Given the description of an element on the screen output the (x, y) to click on. 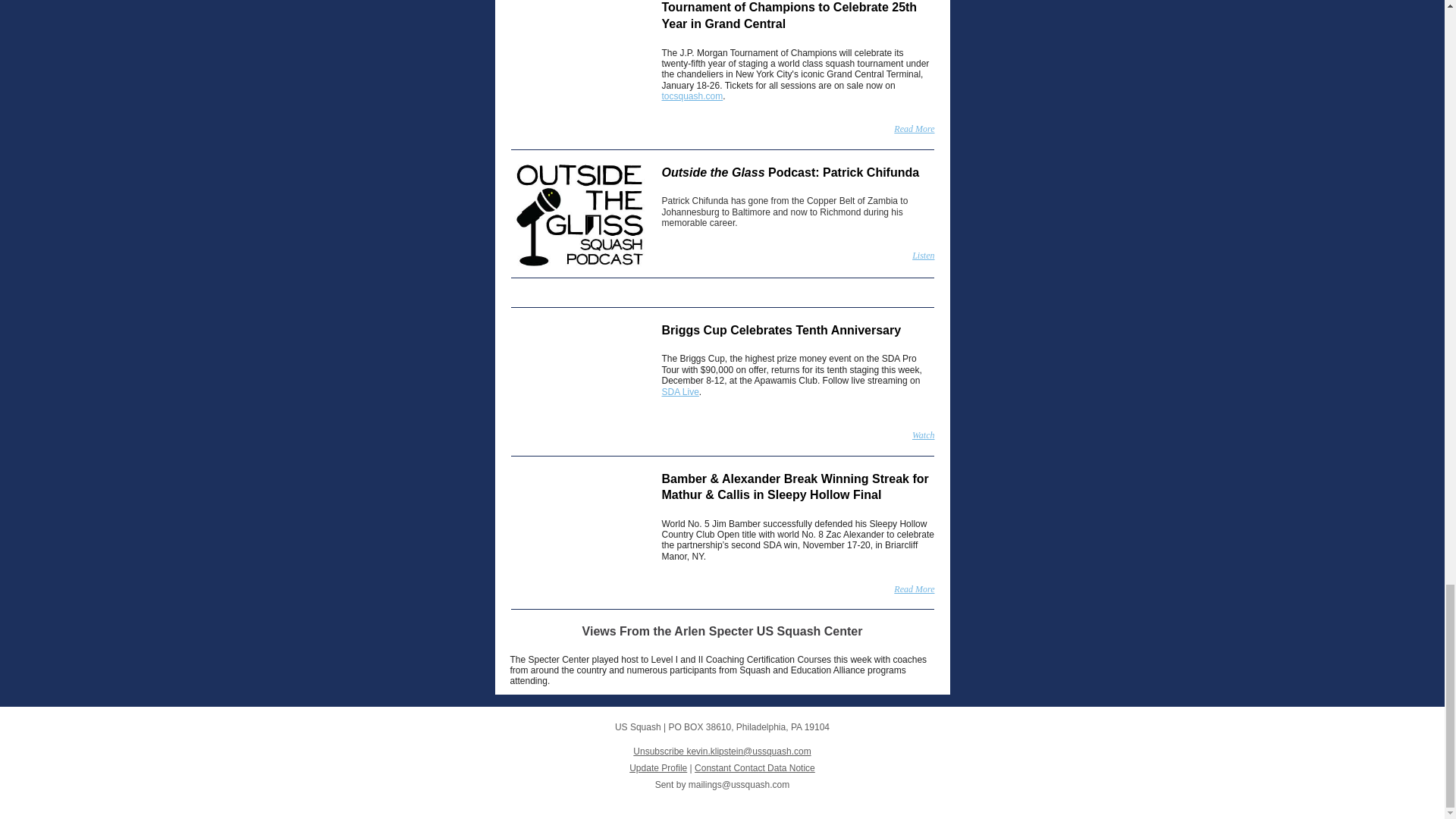
Briggs Cup Celebrates Tenth Anniversary (781, 329)
SDA Live (679, 391)
Podcast: Patrick Chifunda (842, 172)
Listen (923, 255)
Read More (913, 128)
Update Profile (657, 767)
Outside the Glass (712, 172)
Watch (923, 434)
tocsquash.com (691, 95)
